Given the description of an element on the screen output the (x, y) to click on. 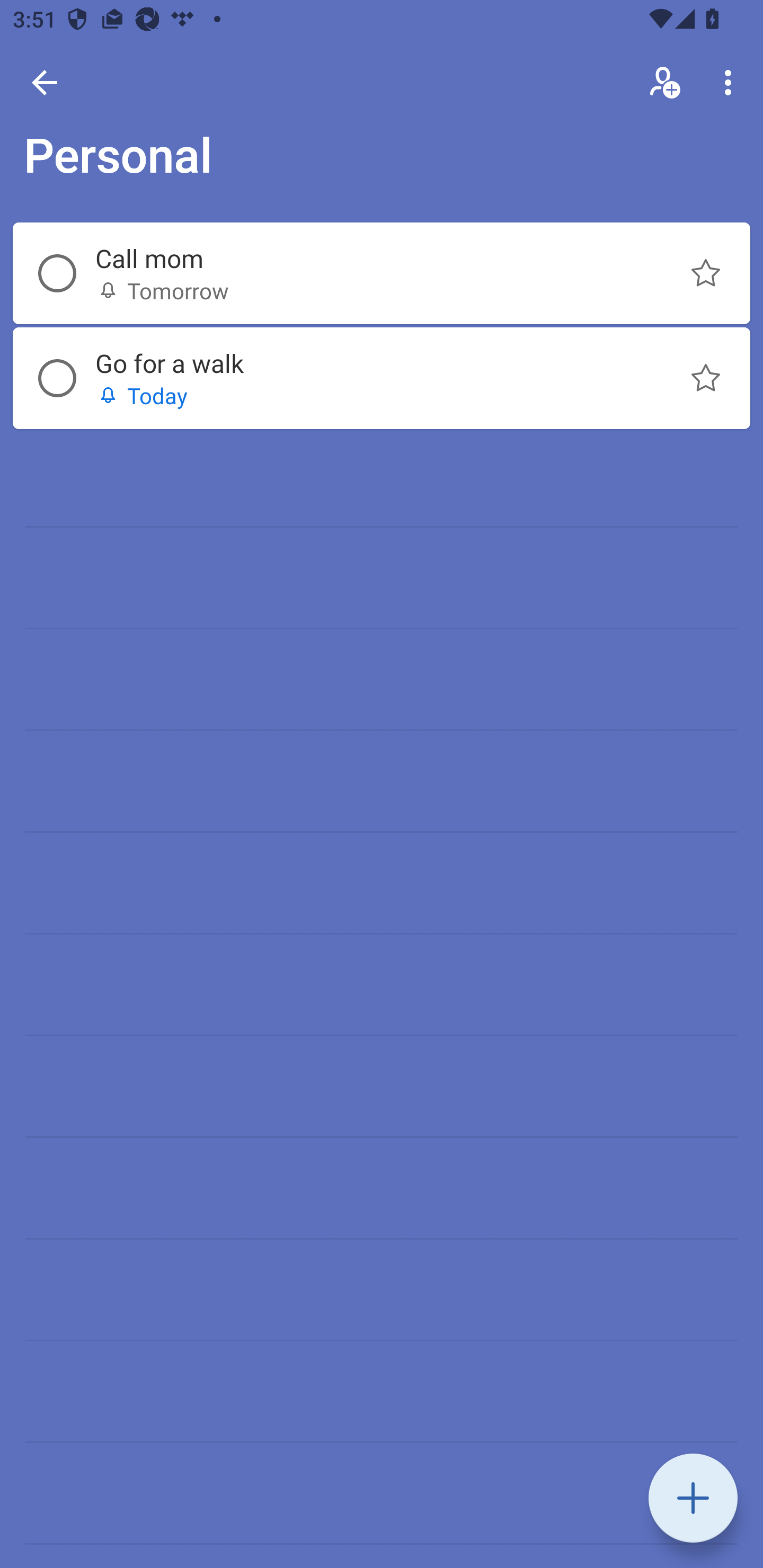
Back (44, 82)
